Given the description of an element on the screen output the (x, y) to click on. 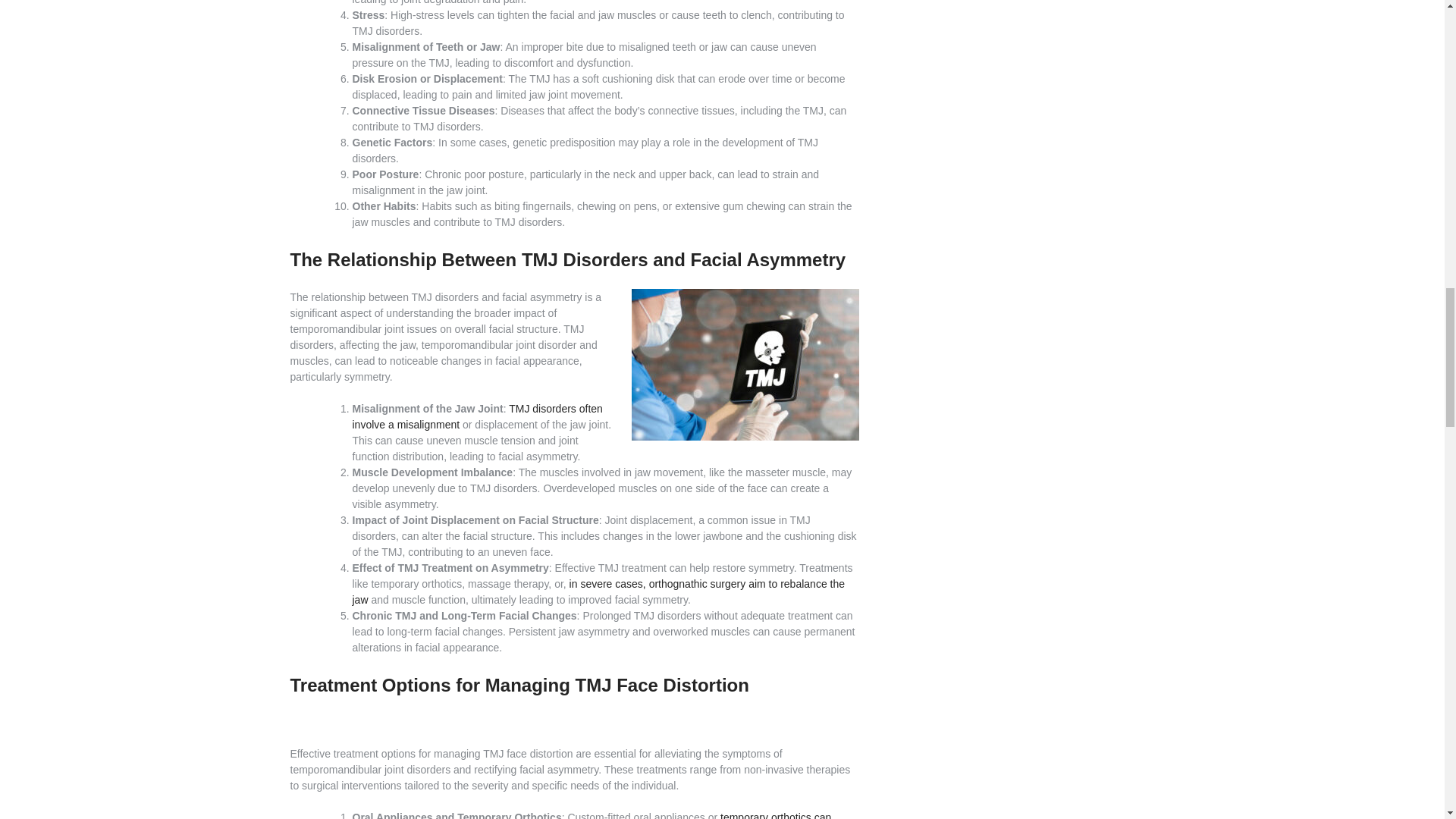
temporary orthotics can realign the jaw (591, 815)
TMJ disorders often involve a misalignment (477, 416)
